Given the description of an element on the screen output the (x, y) to click on. 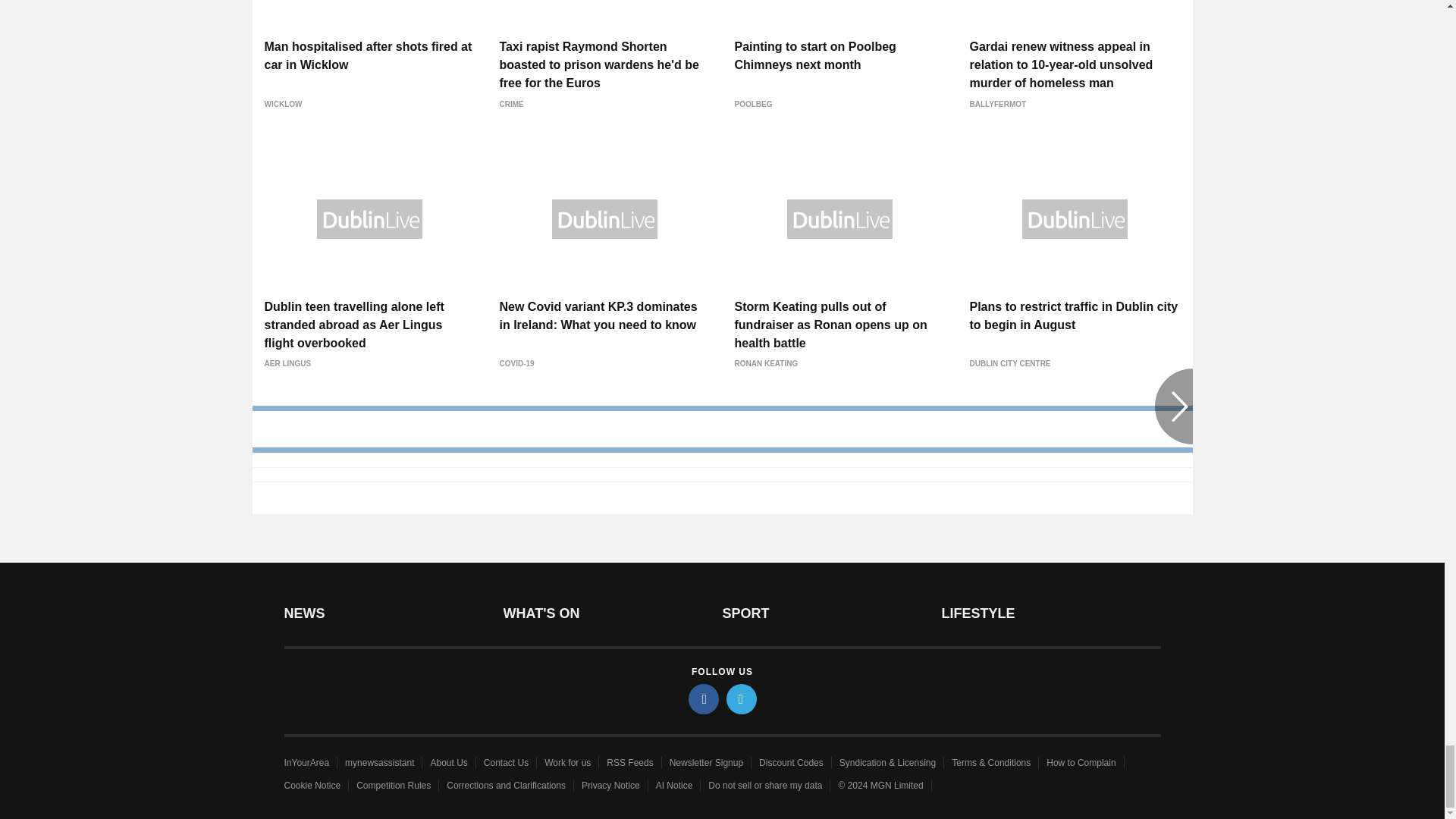
twitter (741, 698)
facebook (703, 698)
